Given the description of an element on the screen output the (x, y) to click on. 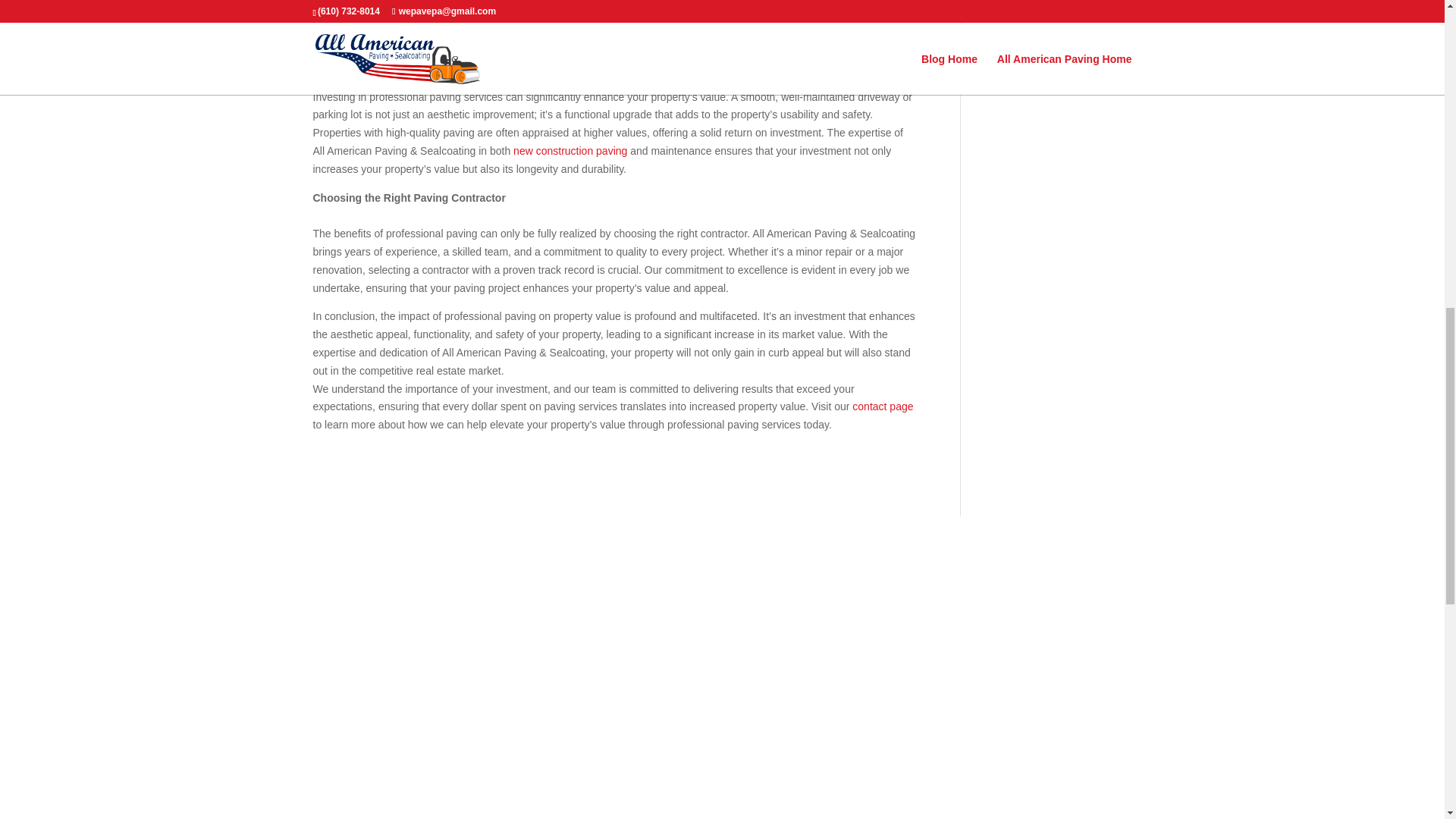
contact page (881, 406)
new construction paving (570, 150)
commercial parking lot paving (382, 13)
residential asphalt driveways (782, 1)
